Given the description of an element on the screen output the (x, y) to click on. 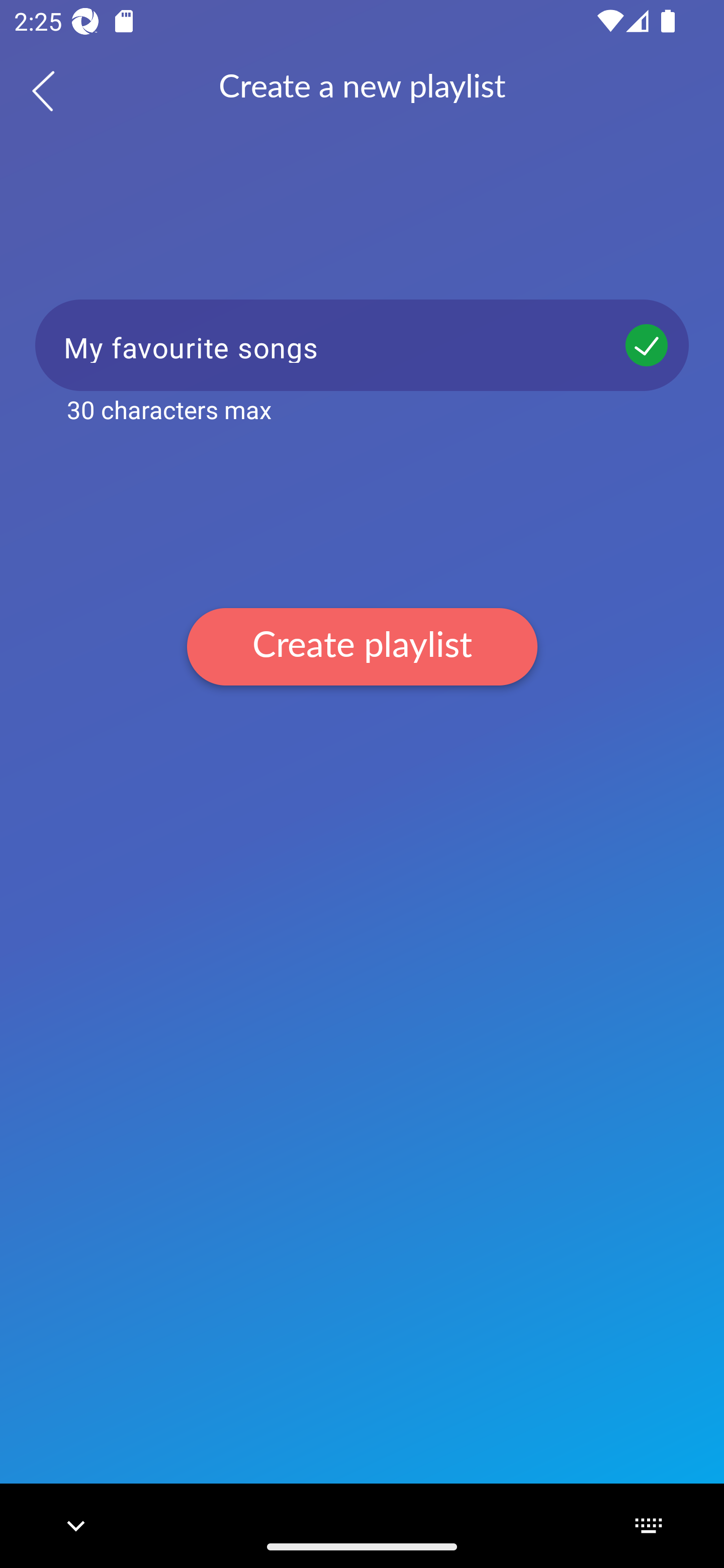
My favourite songs (361, 344)
Create playlist (362, 646)
